Given the description of an element on the screen output the (x, y) to click on. 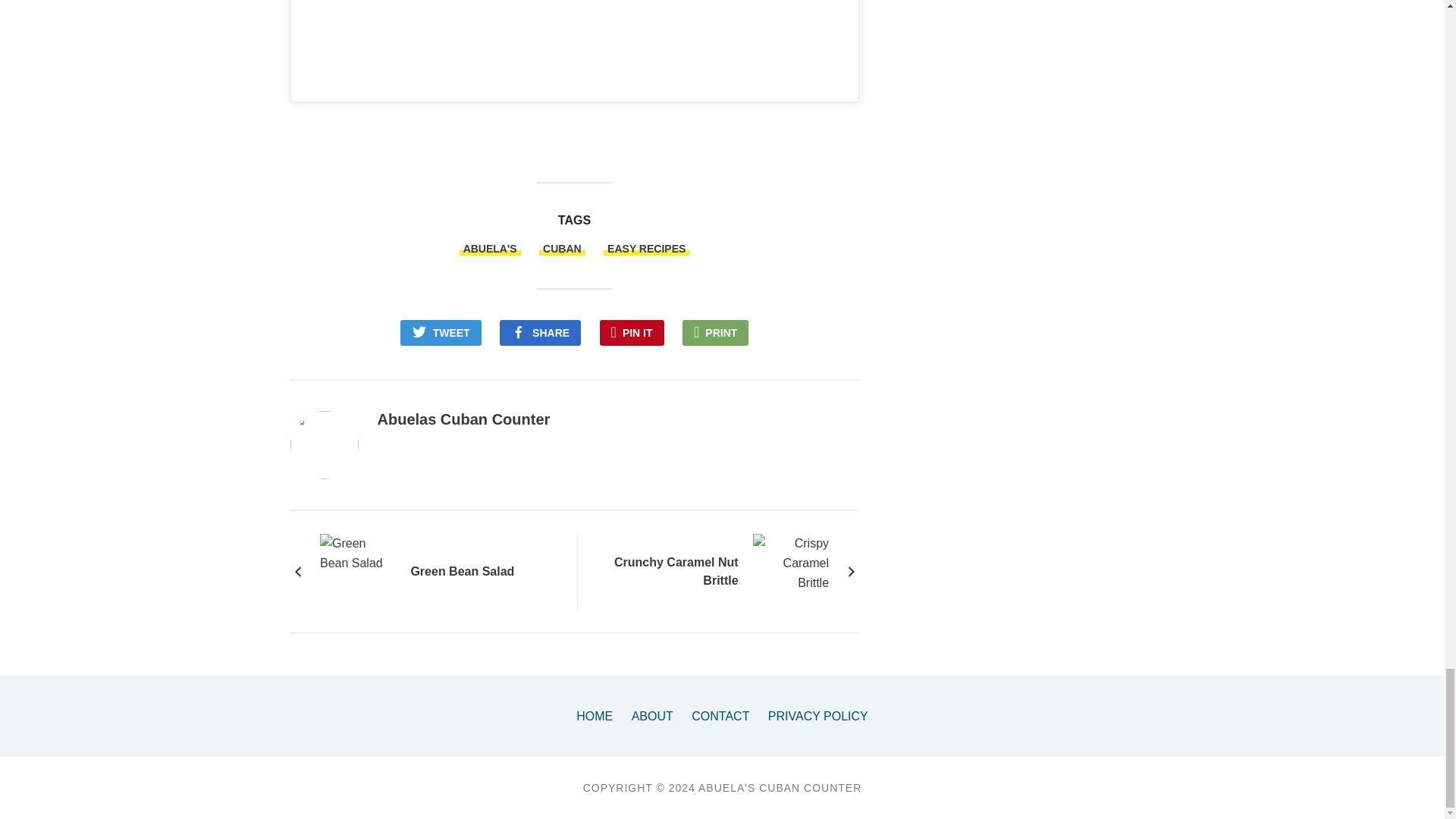
Print this Page (715, 332)
Tweet this on Twitter (440, 332)
Share this on Facebook (539, 332)
Crunchy Caramel Nut Brittle (667, 571)
Crunchy Caramel Nut Brittle (790, 571)
Green Bean Salad (461, 571)
Green Bean Salad (357, 571)
Posts by Abuelas Cuban Counter (463, 419)
Pin it to Pinterest (631, 332)
Let's Make Pumpkin Flan (592, 28)
